Given the description of an element on the screen output the (x, y) to click on. 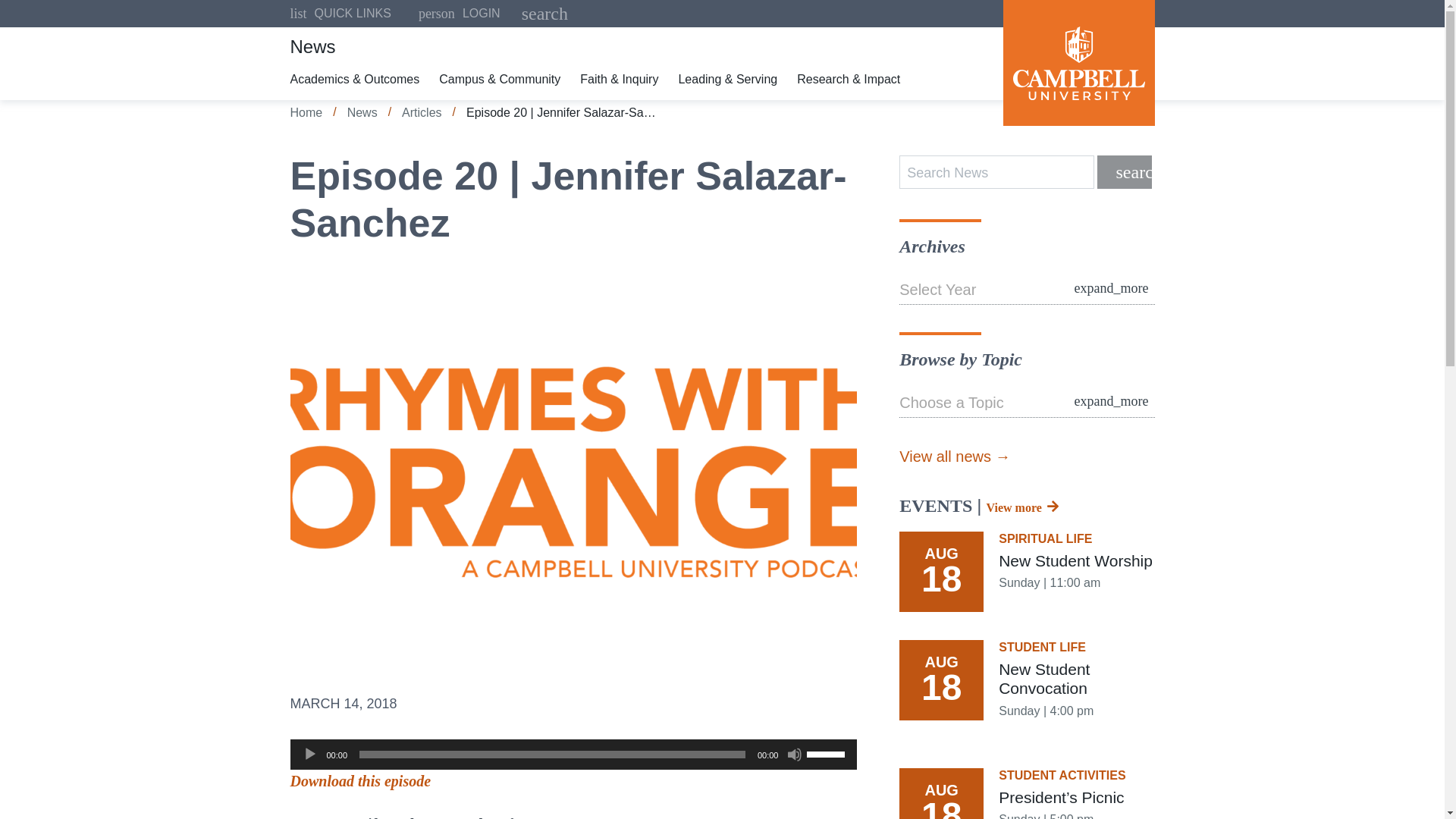
Mute (794, 754)
Articles (421, 112)
News (362, 112)
Go to News. (362, 112)
Download this episode (359, 781)
New Student Worship (1026, 571)
Campbell University (458, 13)
New Student Convocation (1078, 63)
Home (1026, 690)
